Given the description of an element on the screen output the (x, y) to click on. 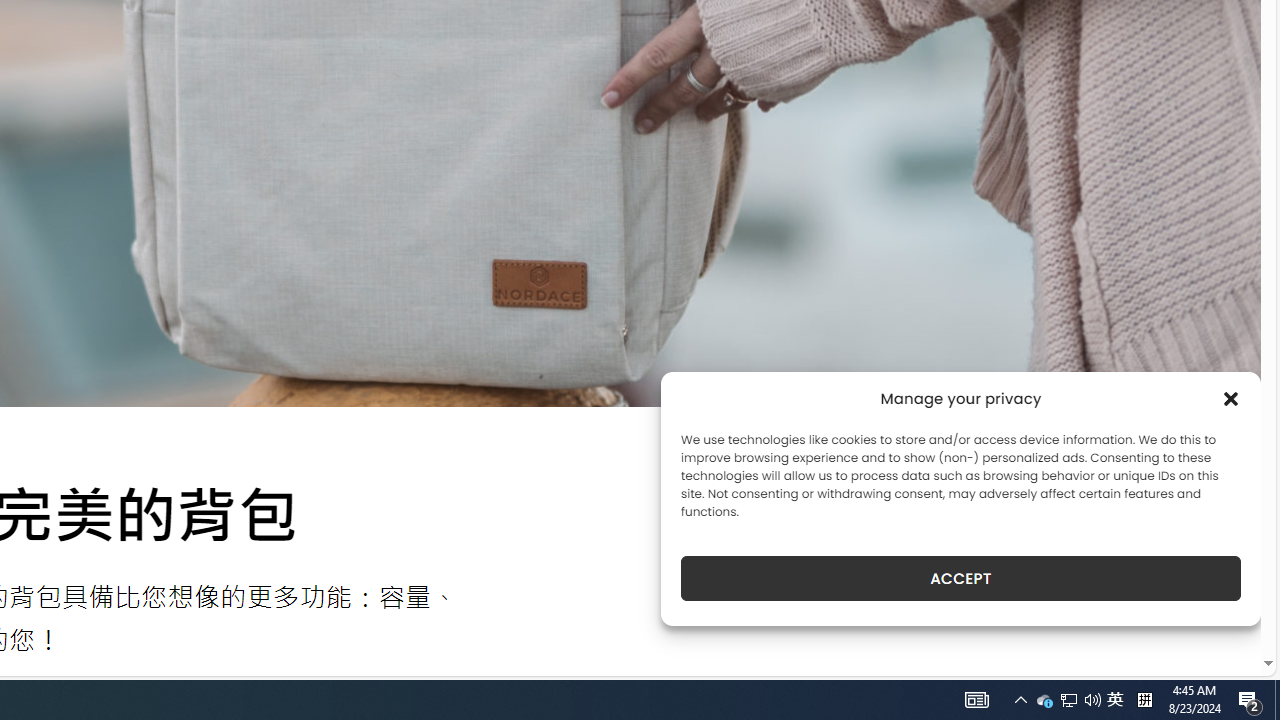
ACCEPT (960, 578)
Class: cmplz-close (1231, 398)
